Given the description of an element on the screen output the (x, y) to click on. 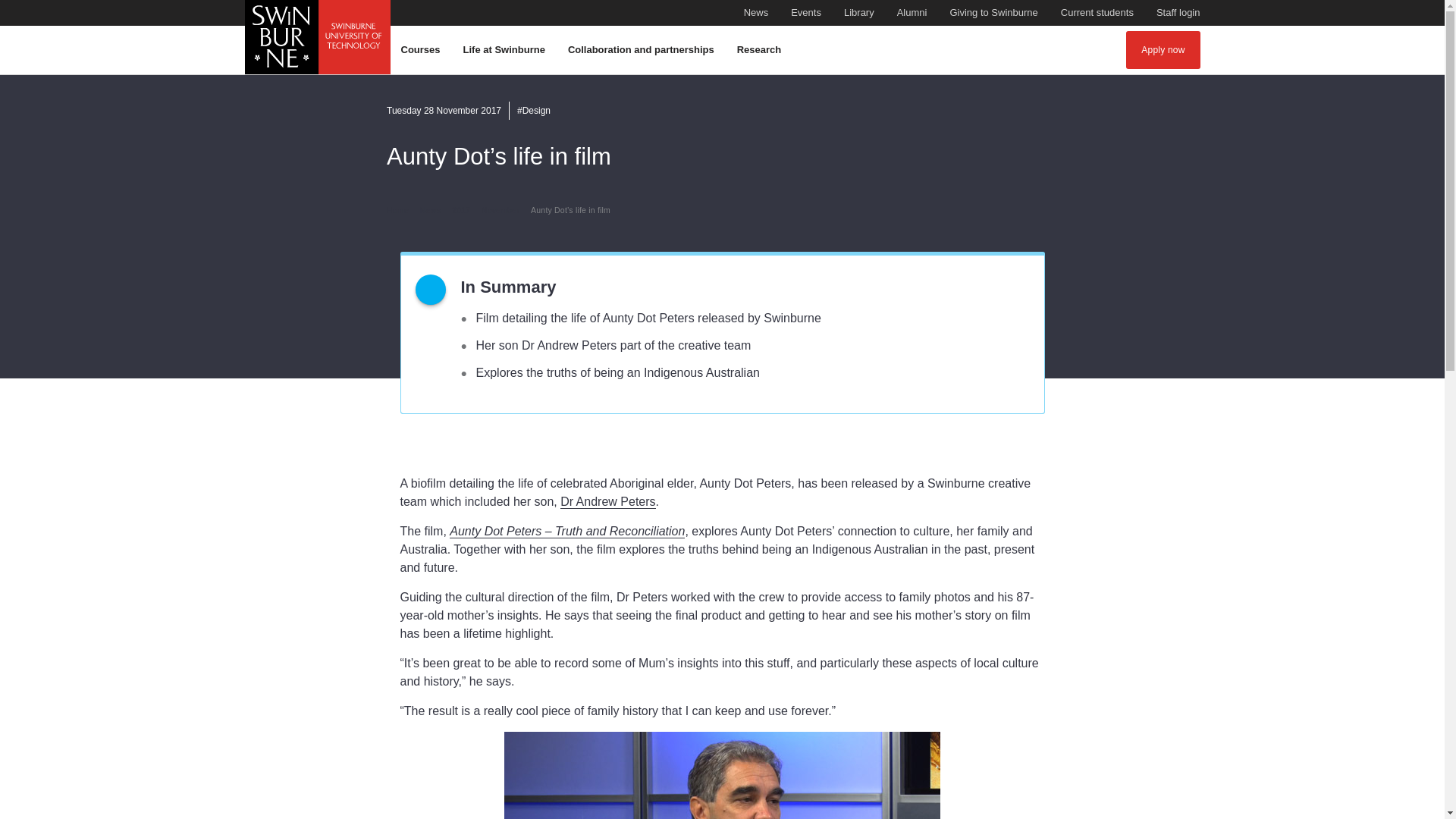
Alumni (911, 13)
Giving to Swinburne (992, 13)
Library (859, 13)
Giving to Swinburne (992, 13)
Current students (1097, 13)
Events (805, 13)
Library (859, 13)
Staff login (1177, 13)
Skip to search (721, 7)
